Given the description of an element on the screen output the (x, y) to click on. 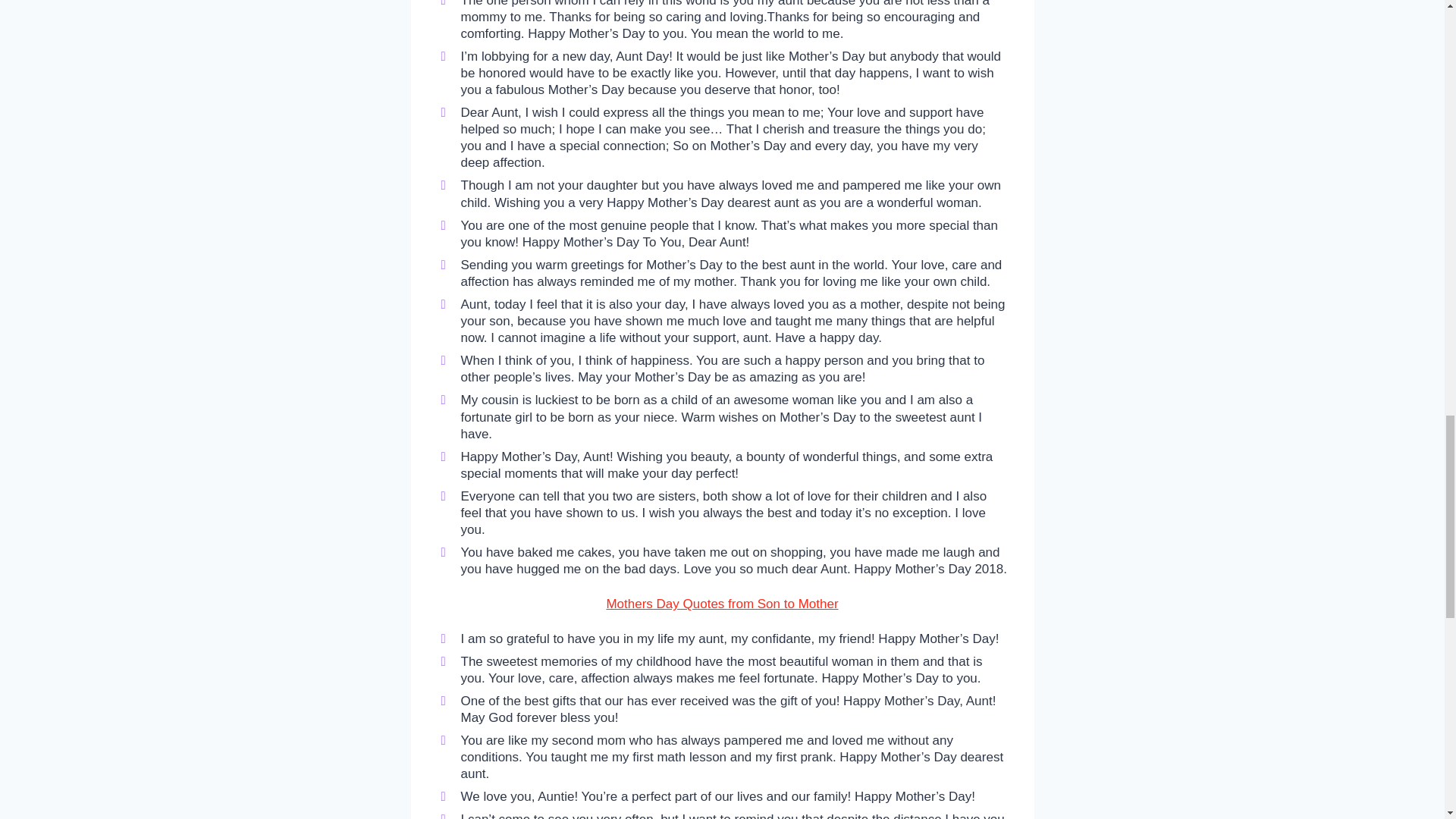
Mothers Day Quotes from Son to Mother (721, 603)
